Given the description of an element on the screen output the (x, y) to click on. 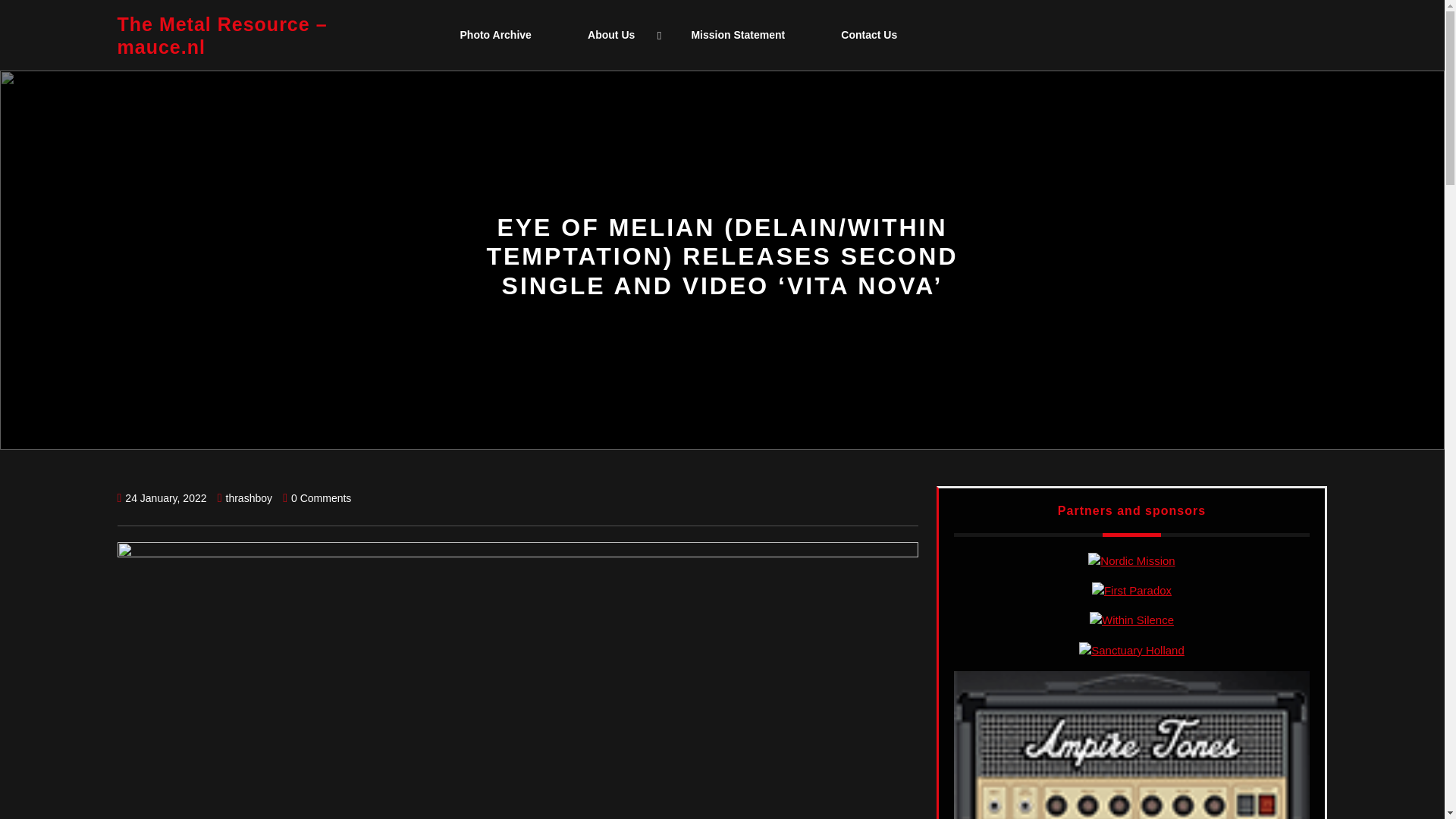
Mission Statement (737, 34)
Contact Us (868, 34)
Nordic Mission (1130, 561)
New Harmony Album (1131, 620)
First Paradox (1132, 590)
About Us (611, 34)
Photo Archive (495, 34)
Sanctuary Holland (1131, 651)
